Given the description of an element on the screen output the (x, y) to click on. 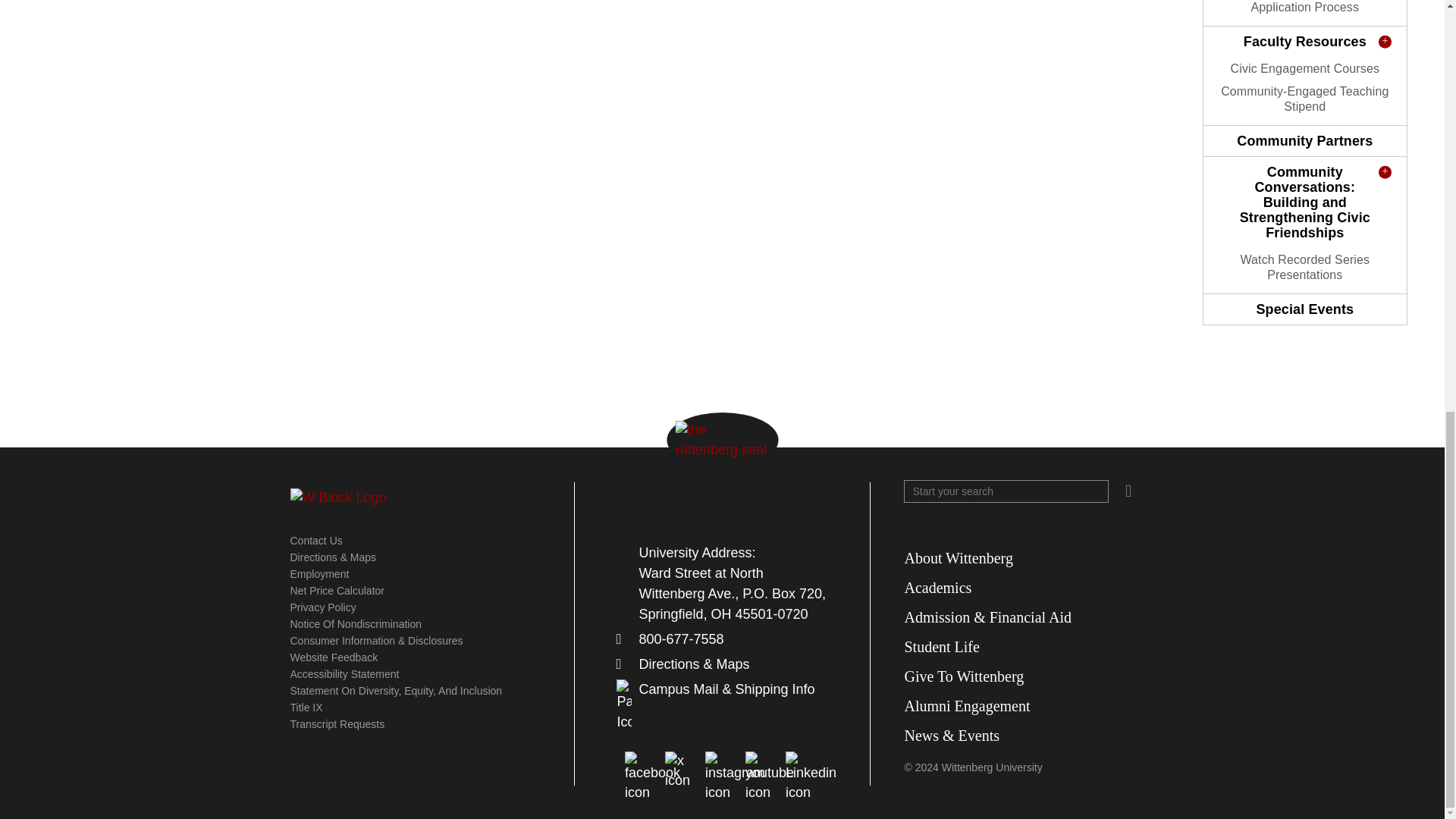
X (681, 768)
Expand Menu (1304, 351)
X (802, 768)
instagram (721, 768)
Facebook (641, 768)
youtube (761, 768)
